Given the description of an element on the screen output the (x, y) to click on. 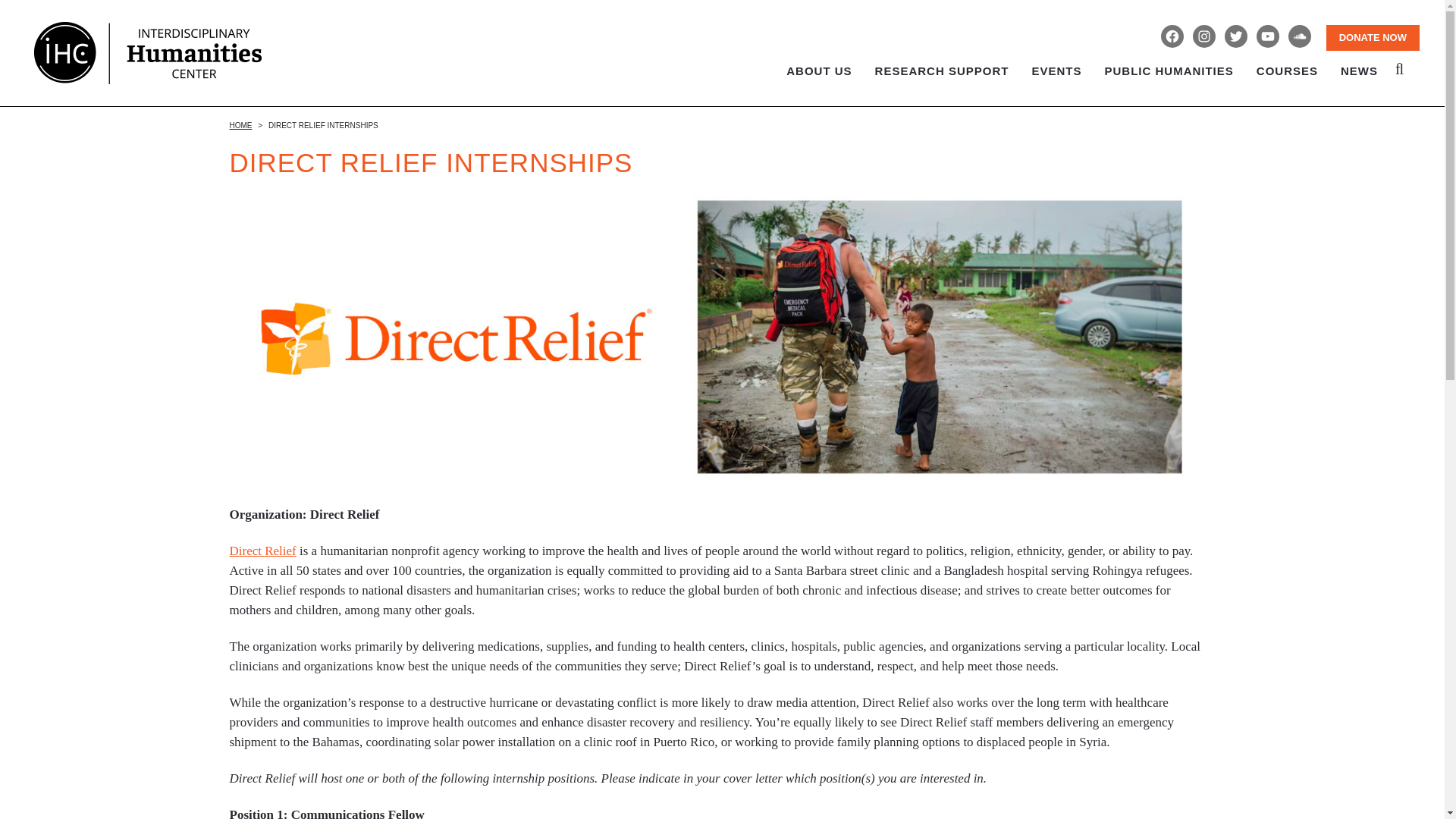
COURSES (1286, 52)
Instagram (1203, 36)
HOME (239, 125)
ABOUT US (818, 52)
YouTube (1267, 36)
PUBLIC HUMANITIES (1168, 52)
SoundCloud (1299, 36)
Twitter (1235, 36)
RESEARCH SUPPORT (941, 52)
Facebook (1171, 36)
EVENTS (1056, 52)
Direct Relief (261, 550)
NEWS (1359, 52)
DONATE NOW (1372, 37)
